Given the description of an element on the screen output the (x, y) to click on. 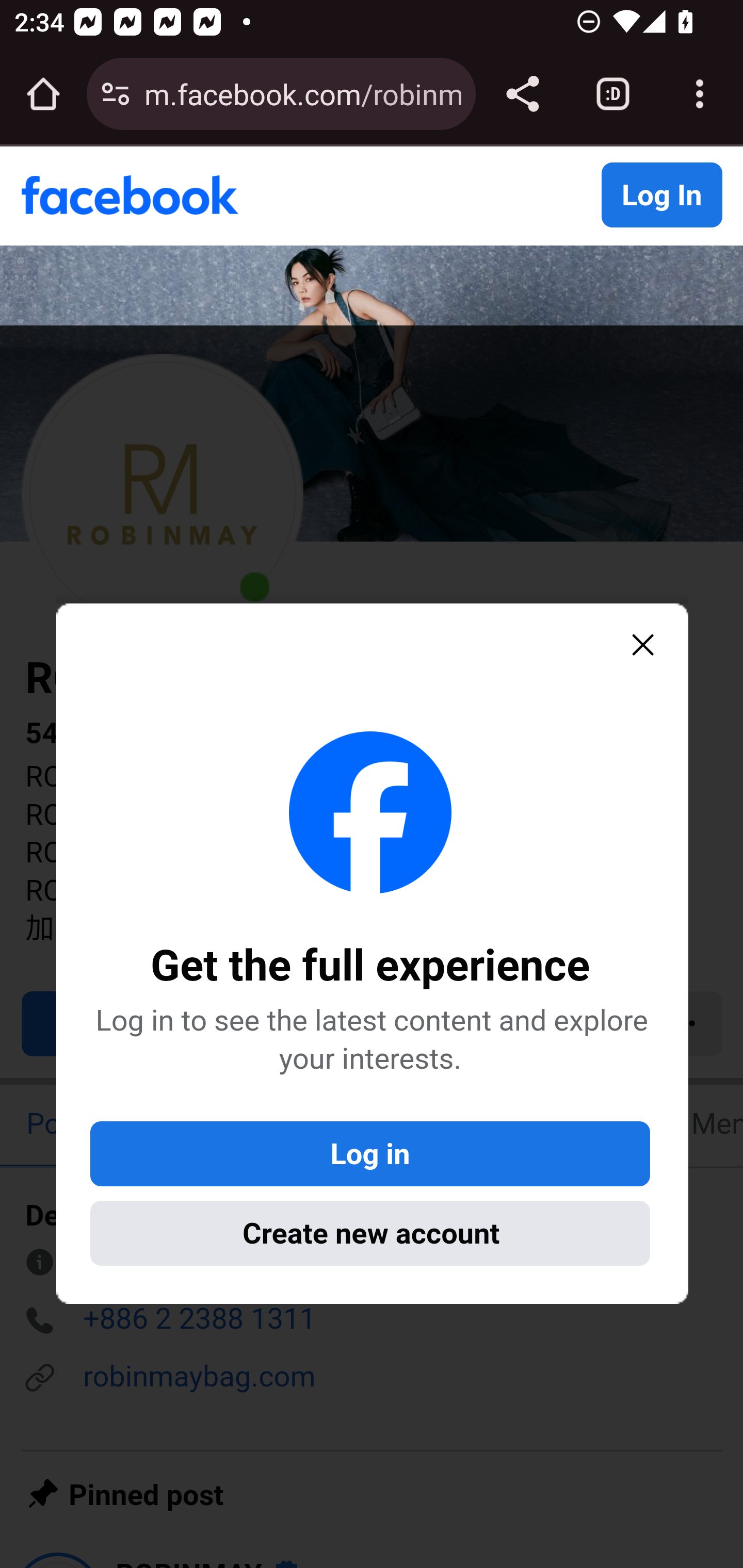
Open the home page (43, 93)
Connection is secure (115, 93)
Share (522, 93)
Switch or close tabs (612, 93)
Customize and control Google Chrome (699, 93)
m.facebook.com/robinmaytw (302, 92)
Facebook wordmark (129, 195)
Log In (661, 195)
󱤅 (643, 646)
Log in (370, 1154)
Create new account (370, 1232)
